Given the description of an element on the screen output the (x, y) to click on. 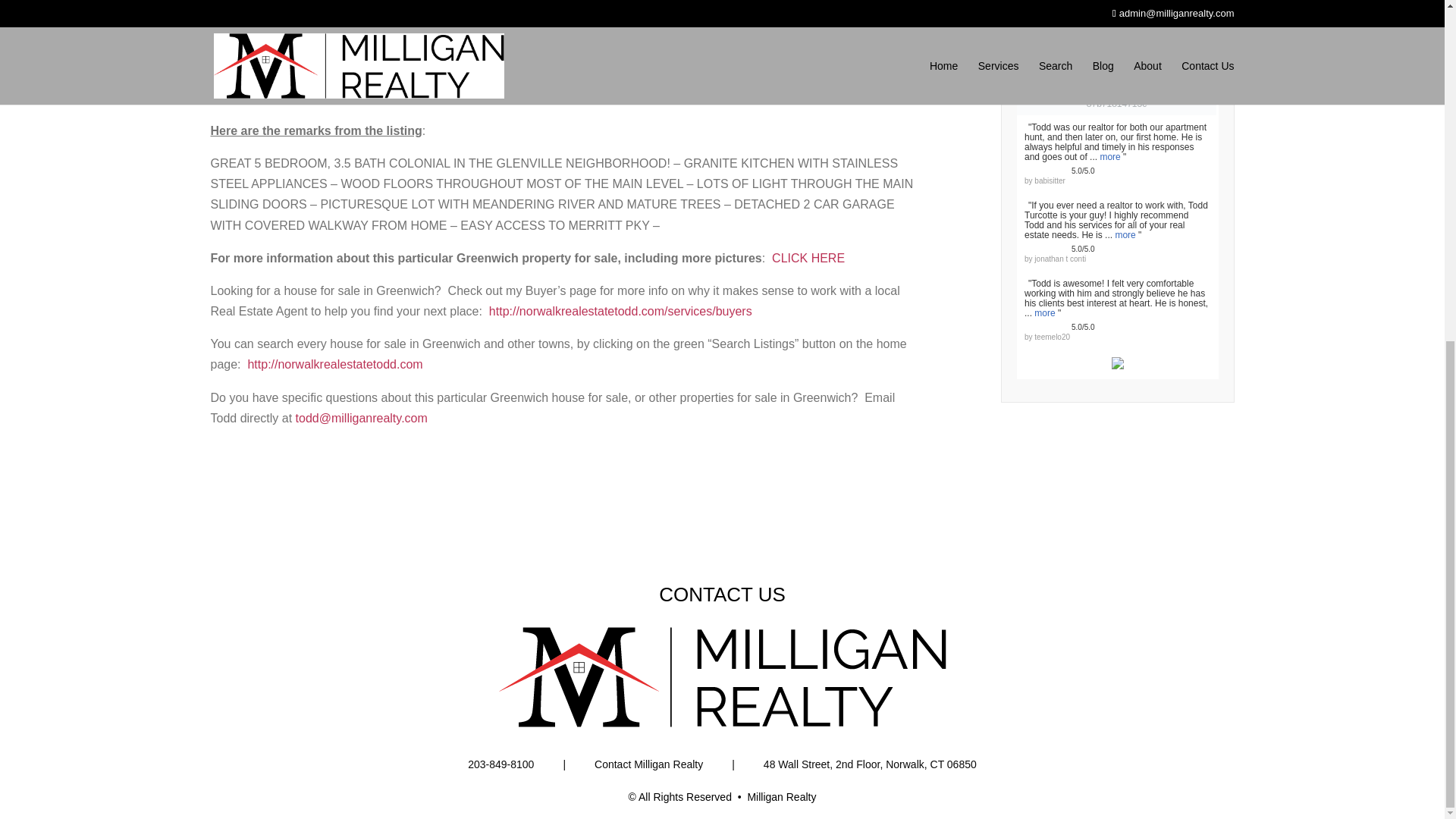
View Map (258, 43)
